Given the description of an element on the screen output the (x, y) to click on. 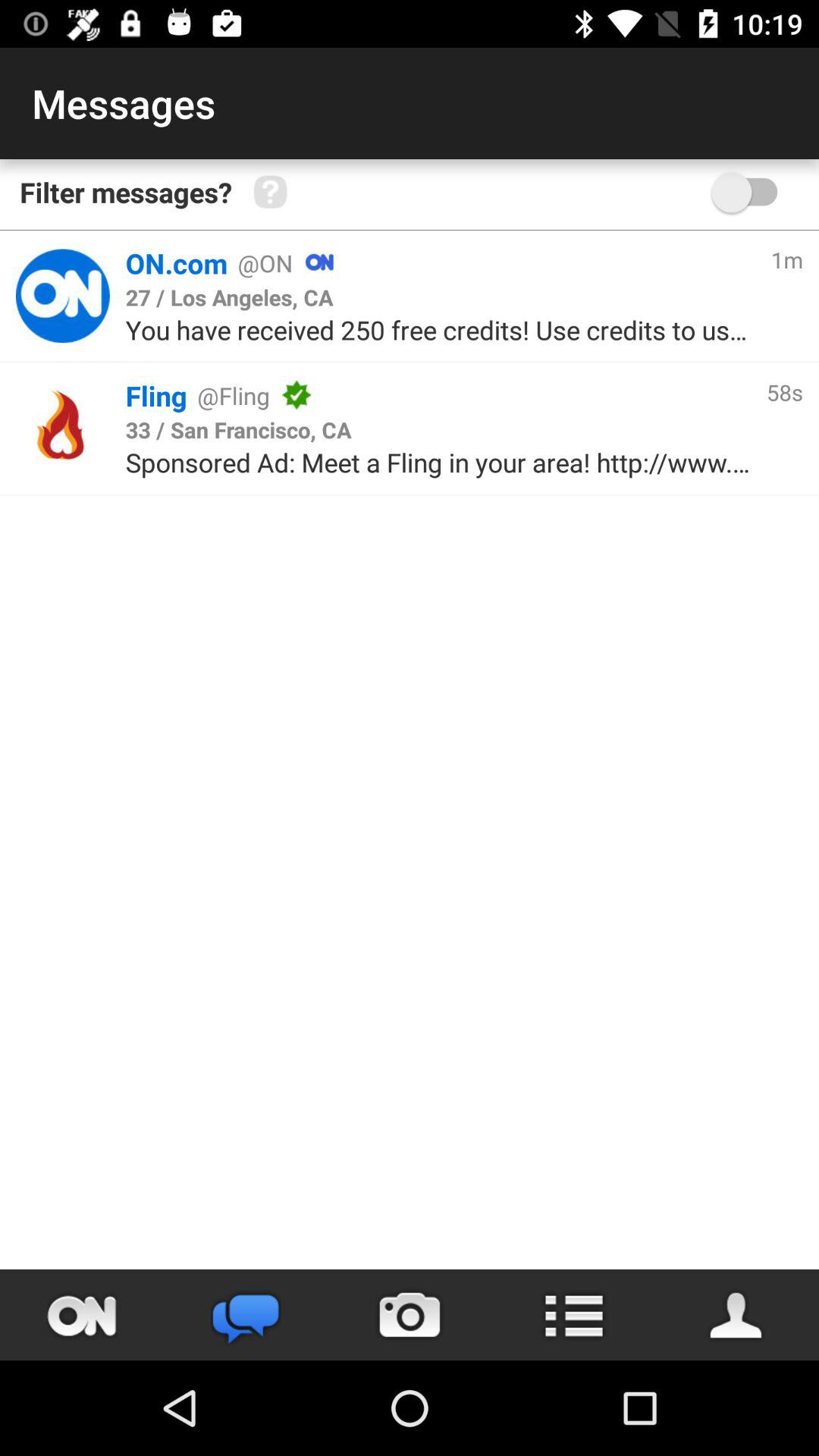
open 1m icon (787, 259)
